Given the description of an element on the screen output the (x, y) to click on. 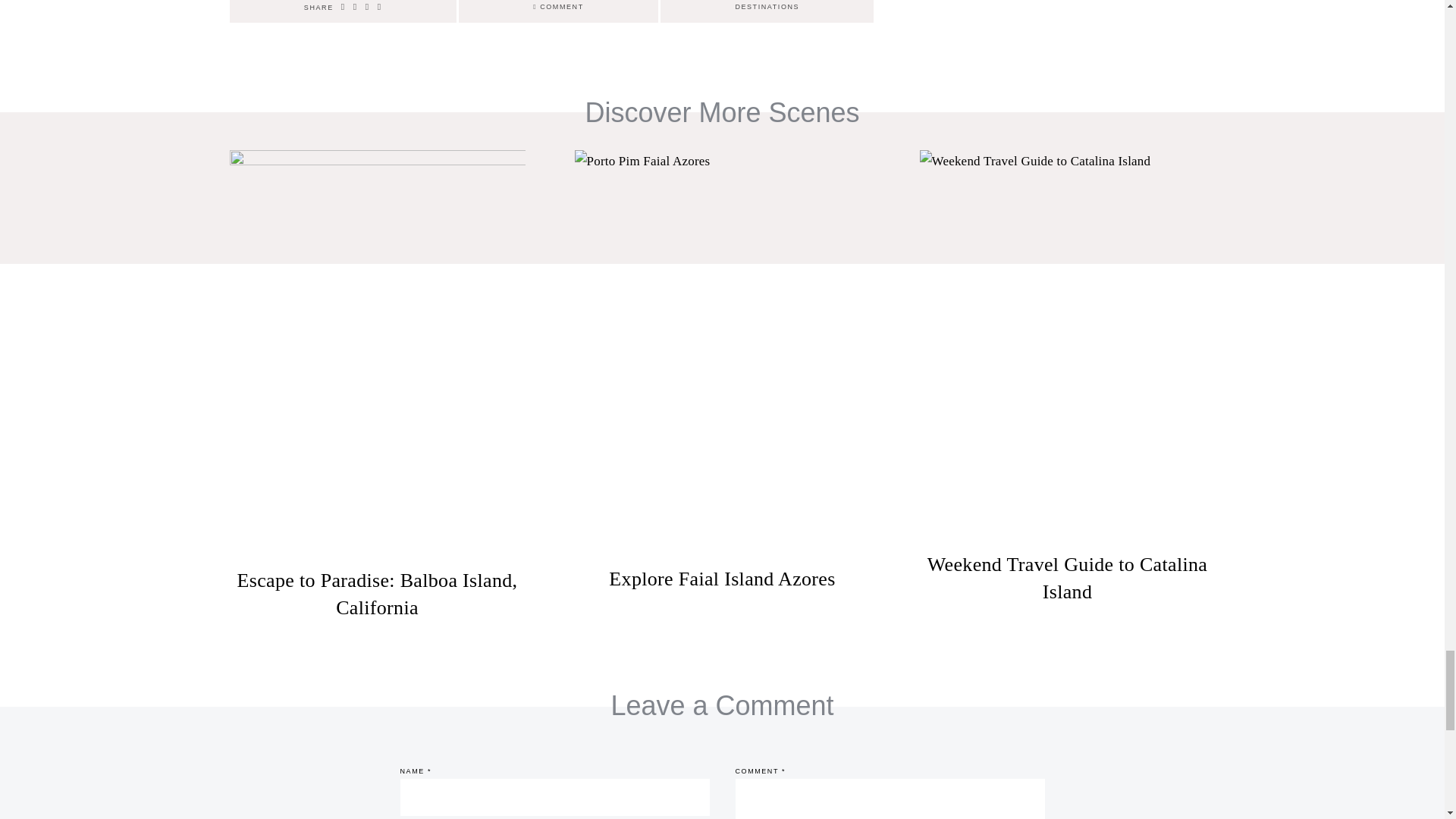
View all posts in Destinations (767, 6)
